Given the description of an element on the screen output the (x, y) to click on. 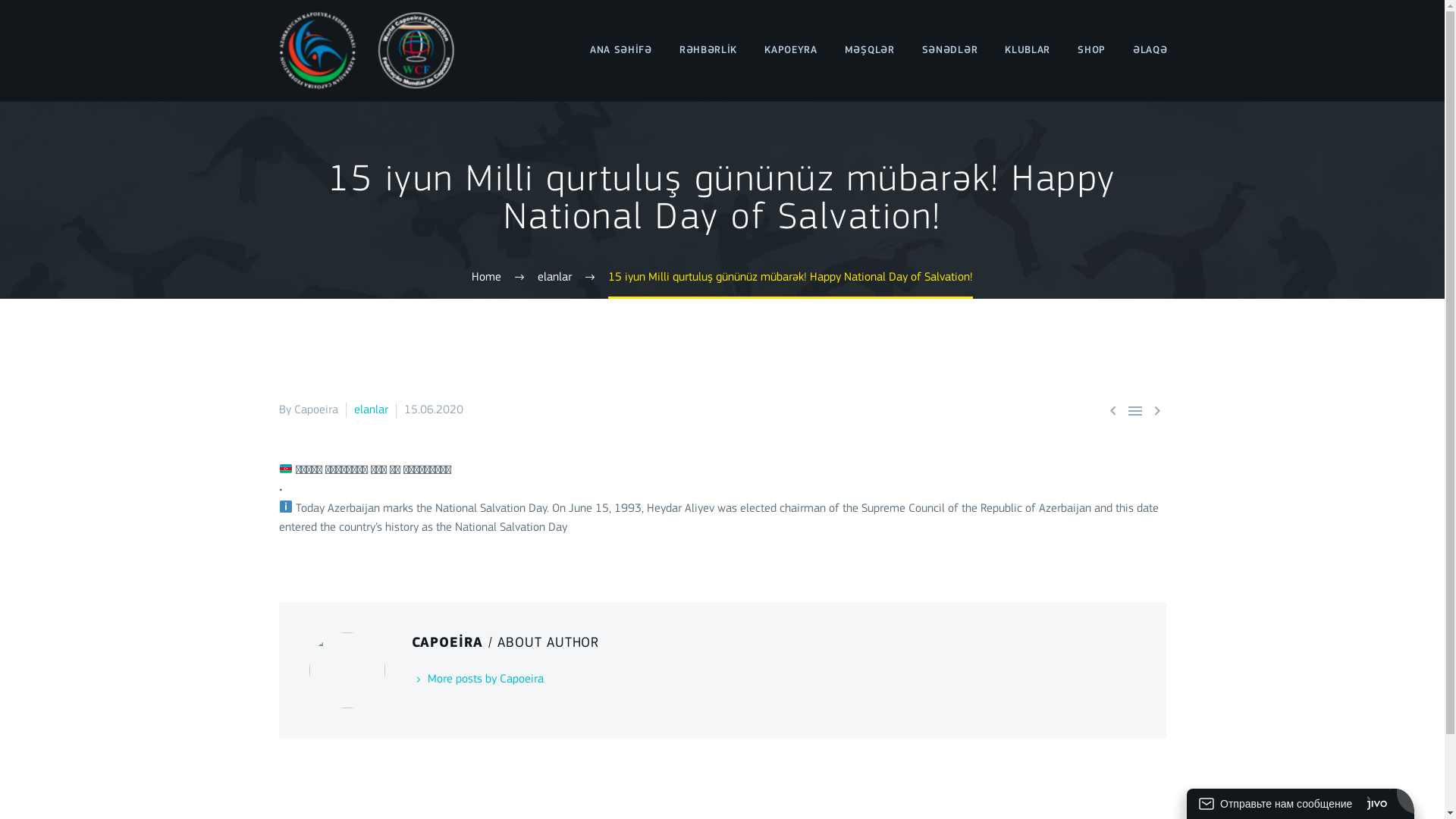
More posts by Capoeira Element type: text (476, 679)
Home Element type: text (486, 277)
SHOP Element type: text (1091, 49)
KLUBLAR Element type: text (1027, 49)
KAPOEYRA Element type: text (790, 49)
elanlar Element type: text (370, 410)
elanlar Element type: text (554, 277)
